Given the description of an element on the screen output the (x, y) to click on. 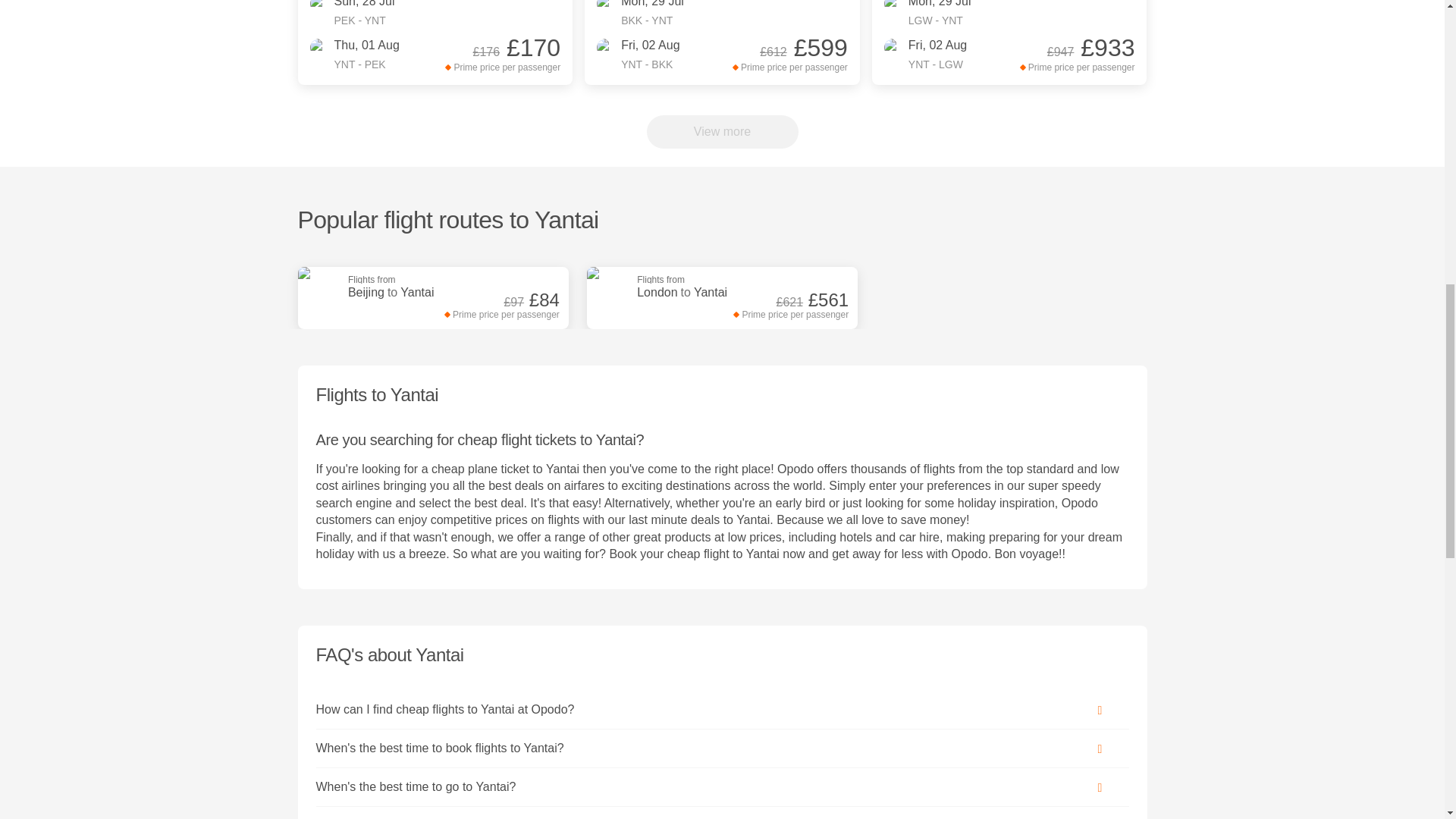
View more (410, 287)
